Given the description of an element on the screen output the (x, y) to click on. 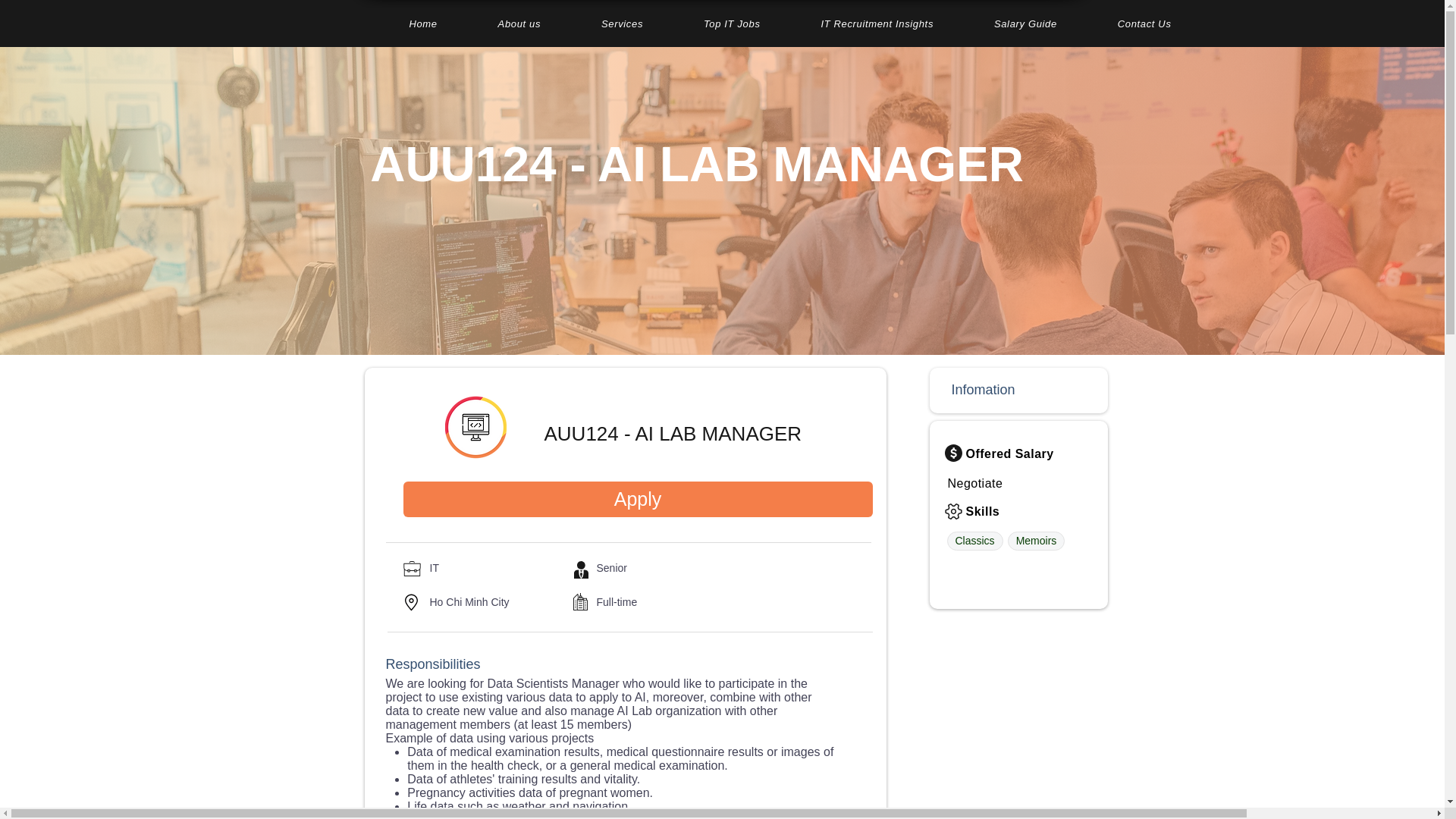
Top IT Jobs (732, 22)
Contact Us (1144, 22)
Home (422, 22)
About us (518, 22)
Salary Guide (1025, 22)
IT Recruitment Insights (876, 22)
